Given the description of an element on the screen output the (x, y) to click on. 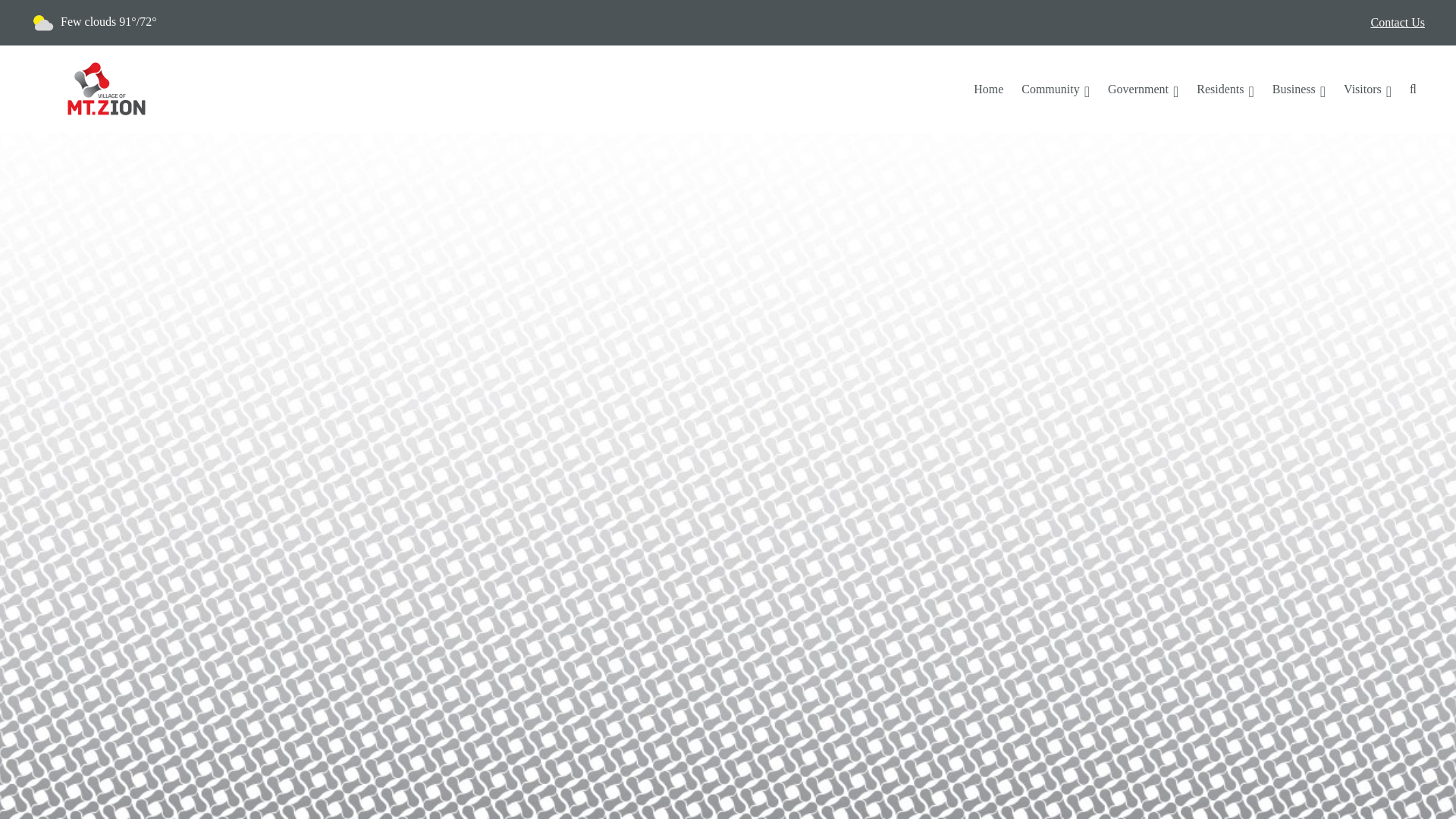
contains current page link (1299, 89)
Community (1055, 89)
Government (1143, 89)
Contact Us (1397, 22)
Home (987, 89)
